Given the description of an element on the screen output the (x, y) to click on. 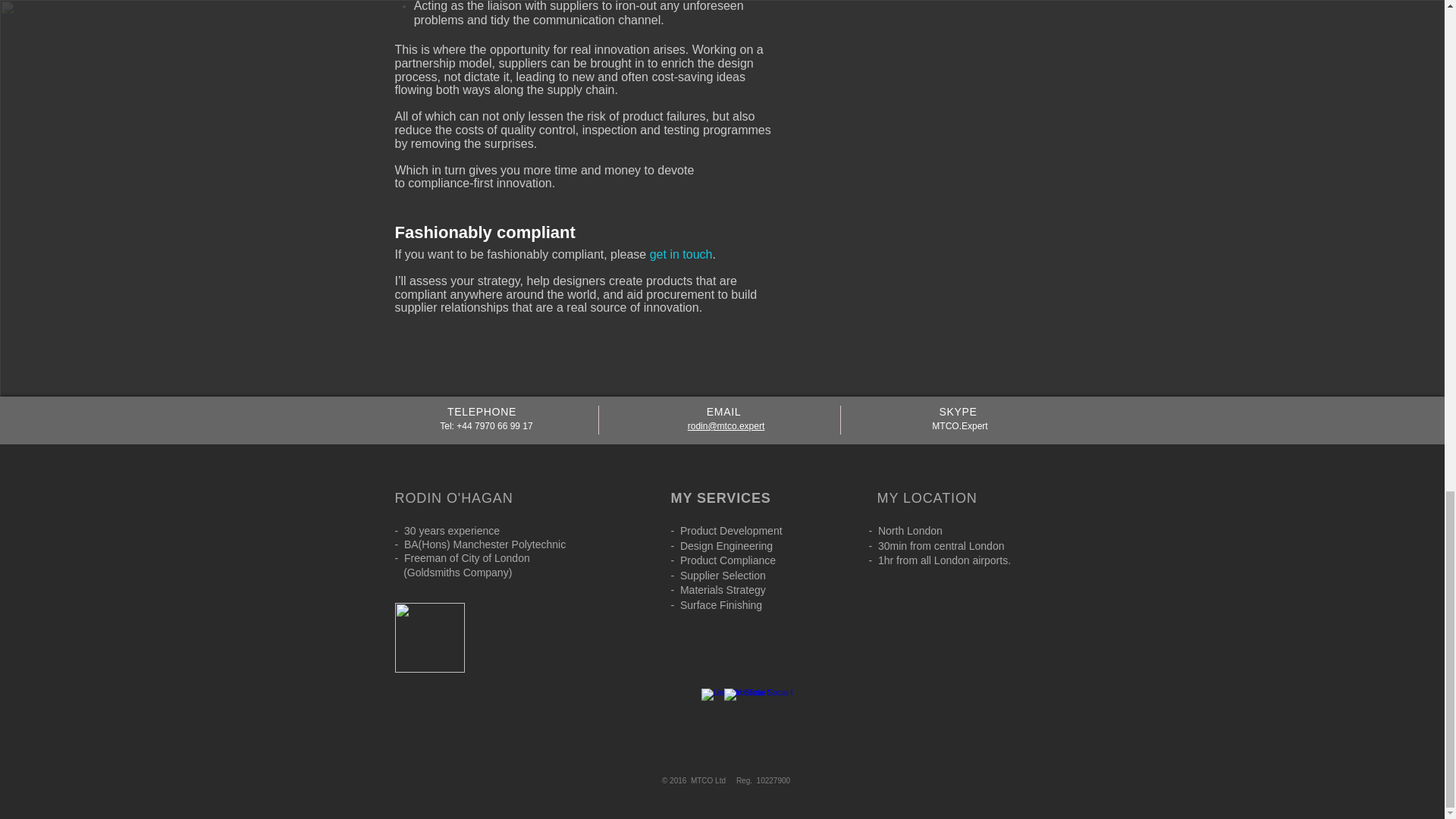
-  Product Compliance (722, 560)
-  Design Engineering (721, 545)
-  Materials Strategy (717, 589)
EMAIL (723, 411)
MTCO Ltd (709, 780)
get in touch (681, 254)
-  Surface Finishing (715, 604)
 Supplier Selection (719, 575)
Call via Skype (721, 723)
-  Product Development (725, 530)
